Given the description of an element on the screen output the (x, y) to click on. 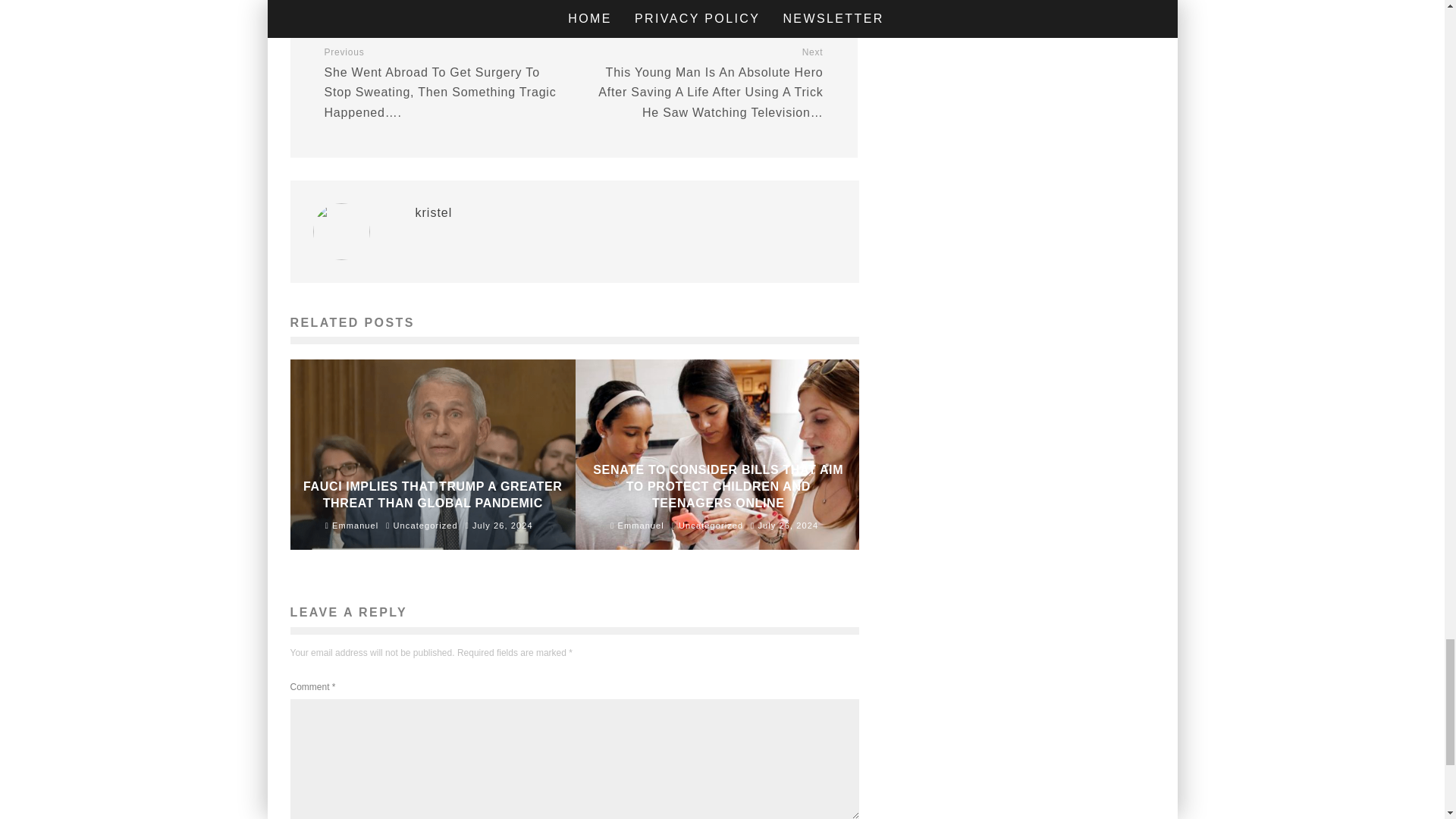
Uncategorized (425, 525)
Emmanuel (636, 524)
Emmanuel (351, 524)
kristel (433, 212)
Uncategorized (710, 525)
